Given the description of an element on the screen output the (x, y) to click on. 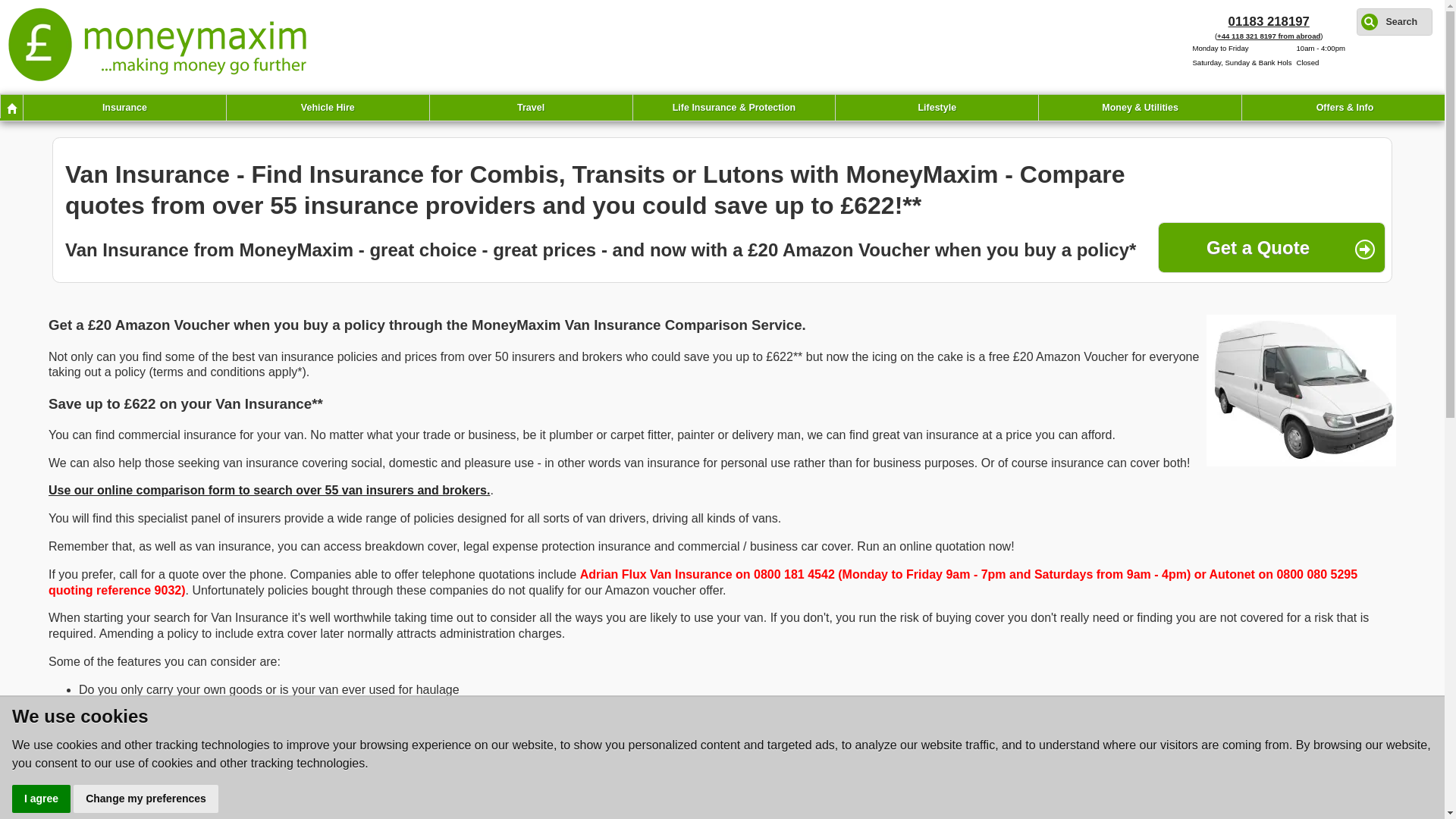
Home (11, 105)
Change my preferences (146, 798)
I agree (40, 798)
